Given the description of an element on the screen output the (x, y) to click on. 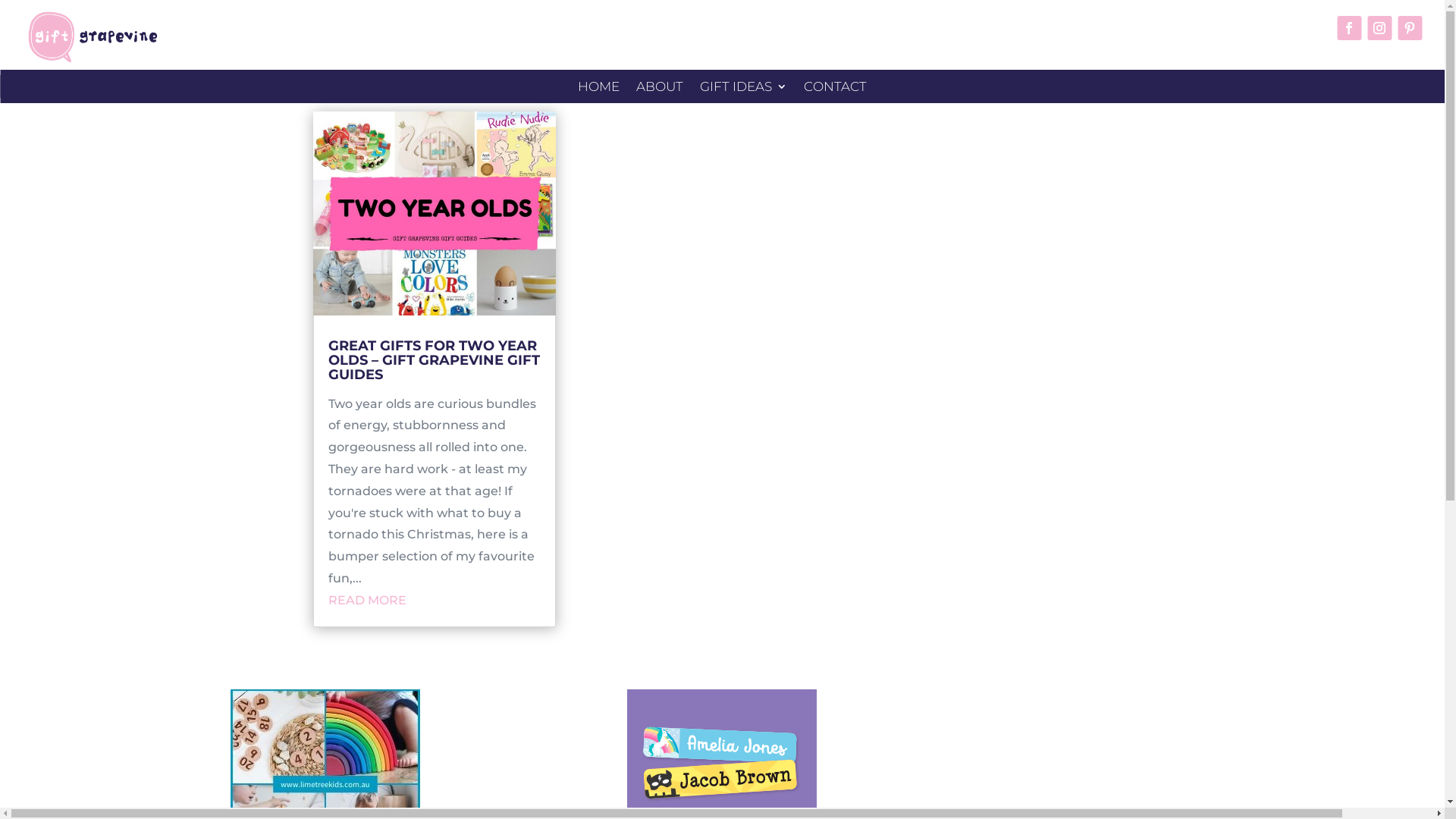
CONTACT Element type: text (834, 89)
Follow on Pinterest Element type: hover (1409, 27)
HOME Element type: text (598, 89)
GiftGrapevine_Logo_long_new-01 Element type: hover (92, 37)
GIFT IDEAS Element type: text (743, 89)
READ MORE Element type: text (366, 600)
Follow on Instagram Element type: hover (1379, 27)
ABOUT Element type: text (659, 89)
Follow on Facebook Element type: hover (1348, 27)
